Given the description of an element on the screen output the (x, y) to click on. 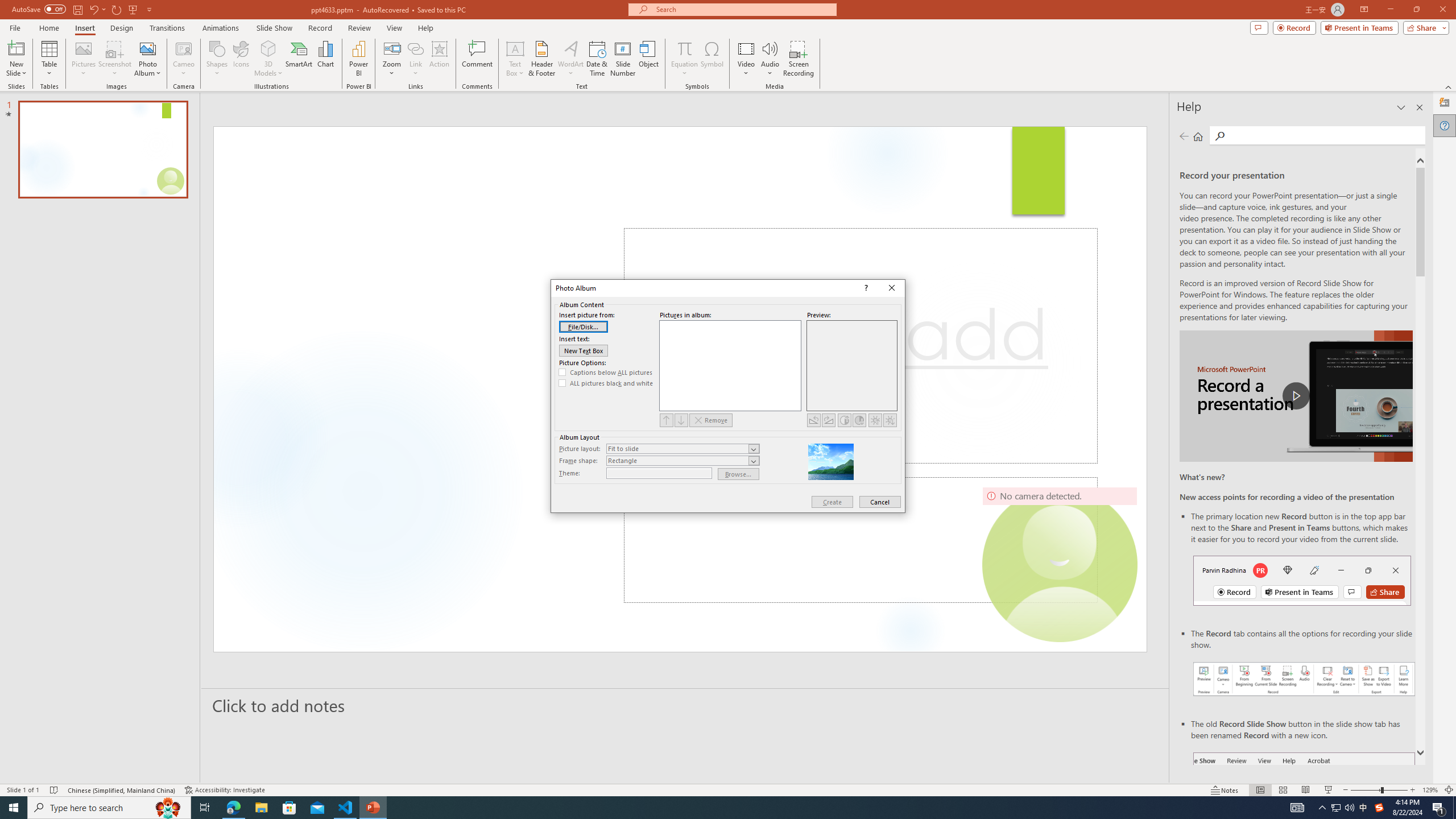
Chart... (325, 58)
Photo Album... (147, 58)
Draw Horizontal Text Box (515, 48)
Theme (658, 473)
Power BI (358, 58)
